Given the description of an element on the screen output the (x, y) to click on. 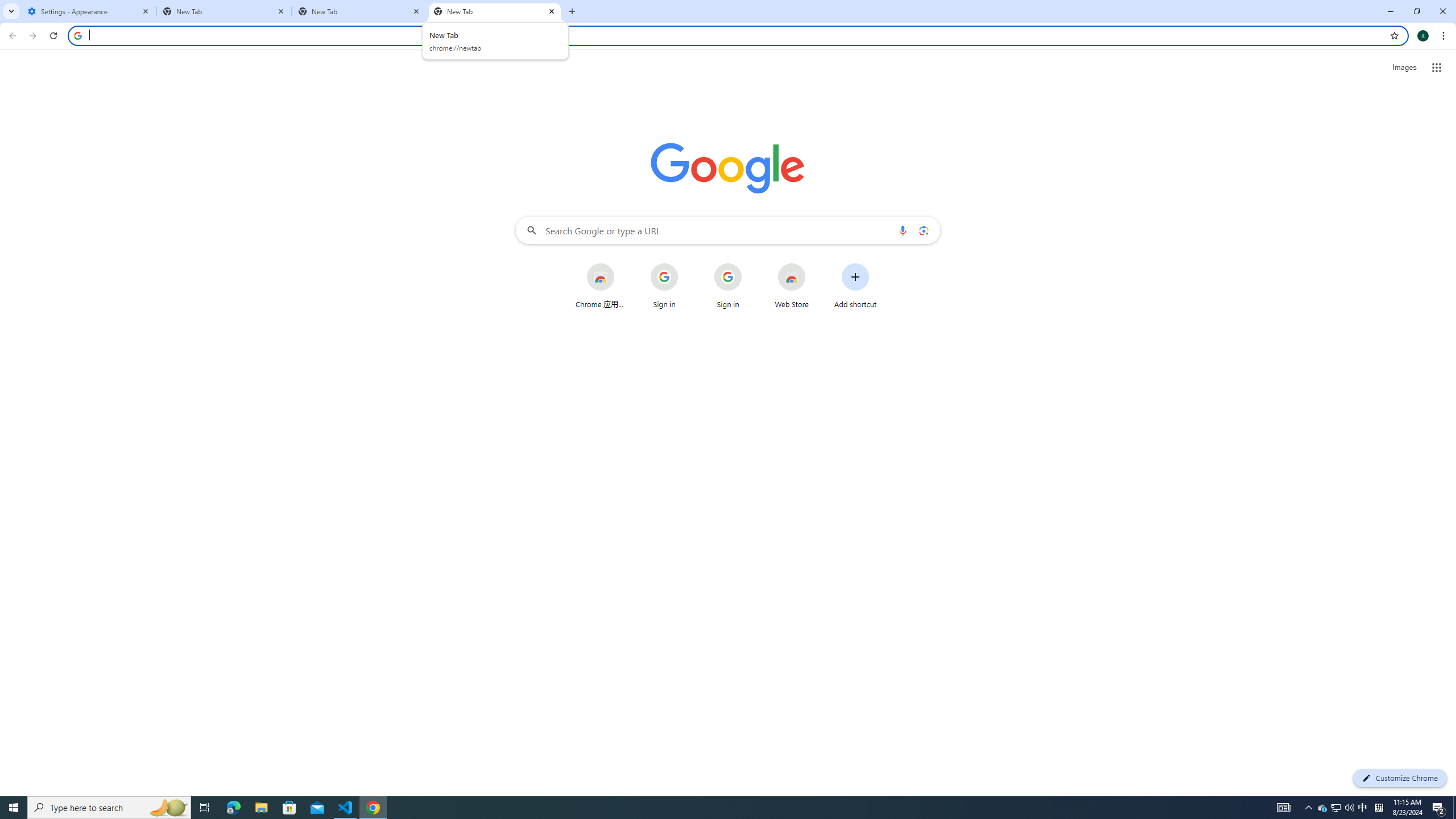
More actions for Web Store shortcut (814, 264)
New Tab (359, 11)
Settings - Appearance (88, 11)
New Tab (224, 11)
